Given the description of an element on the screen output the (x, y) to click on. 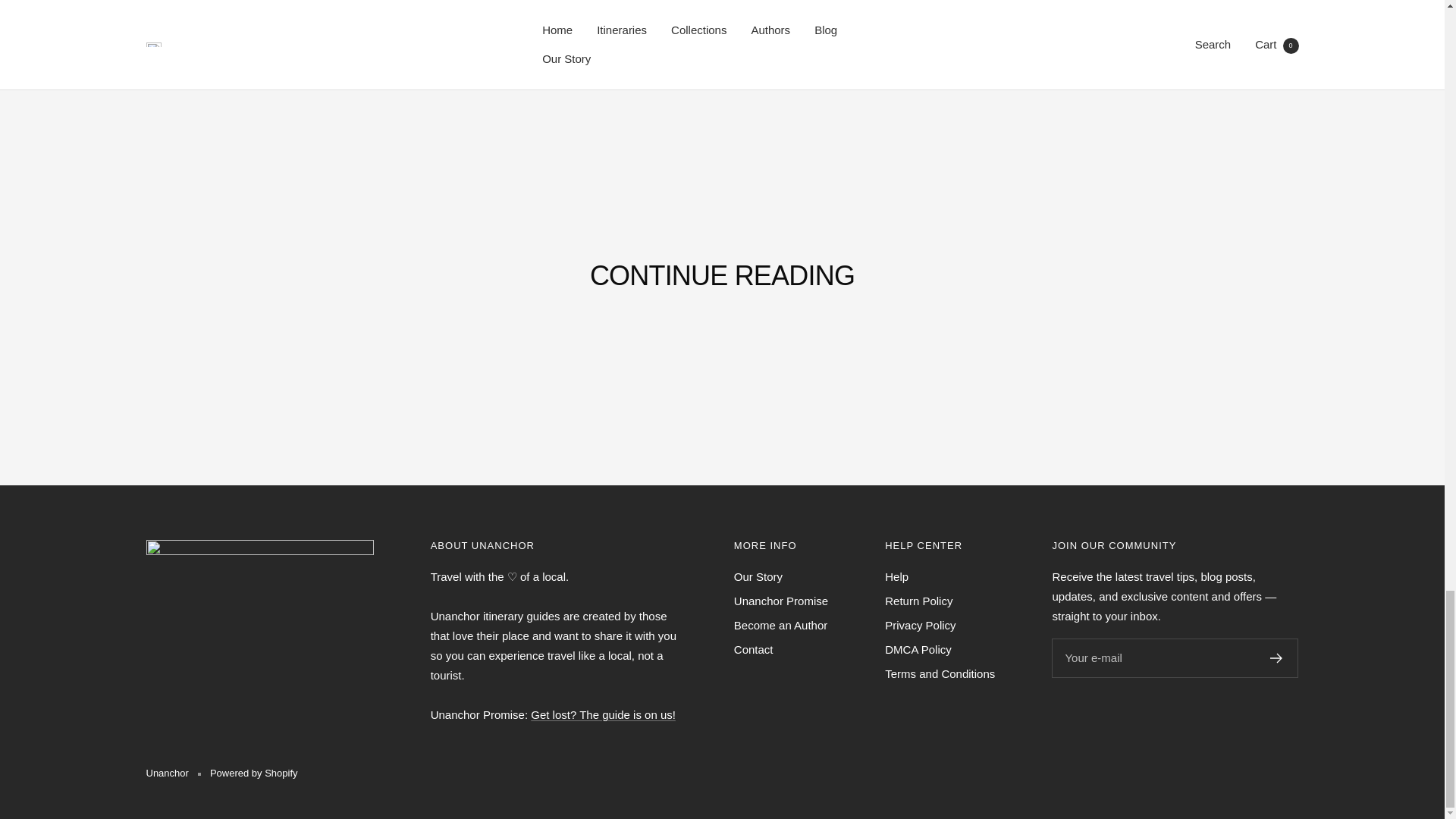
Register (1275, 657)
